Given the description of an element on the screen output the (x, y) to click on. 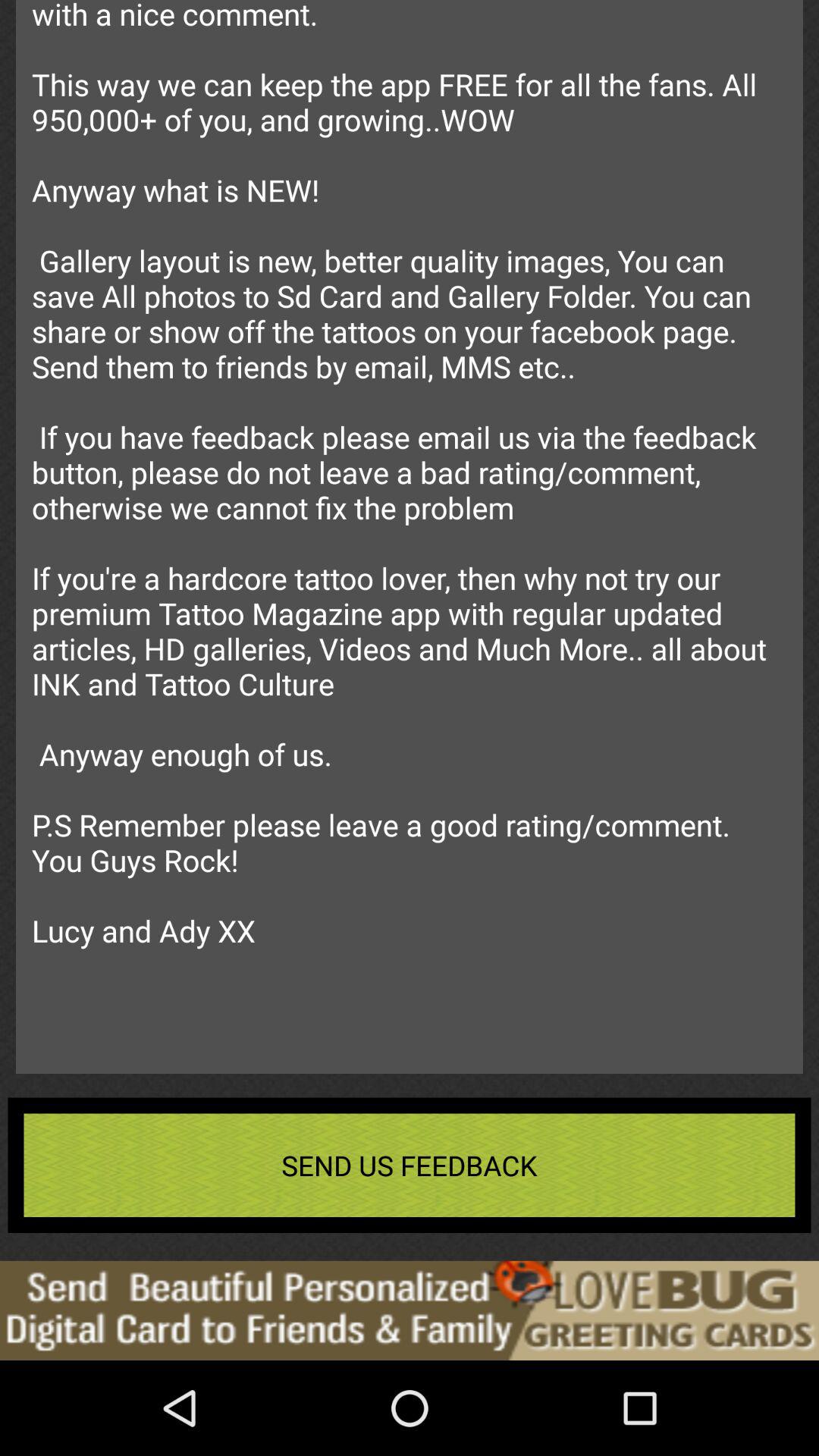
start here to send a personlized card (409, 1310)
